Given the description of an element on the screen output the (x, y) to click on. 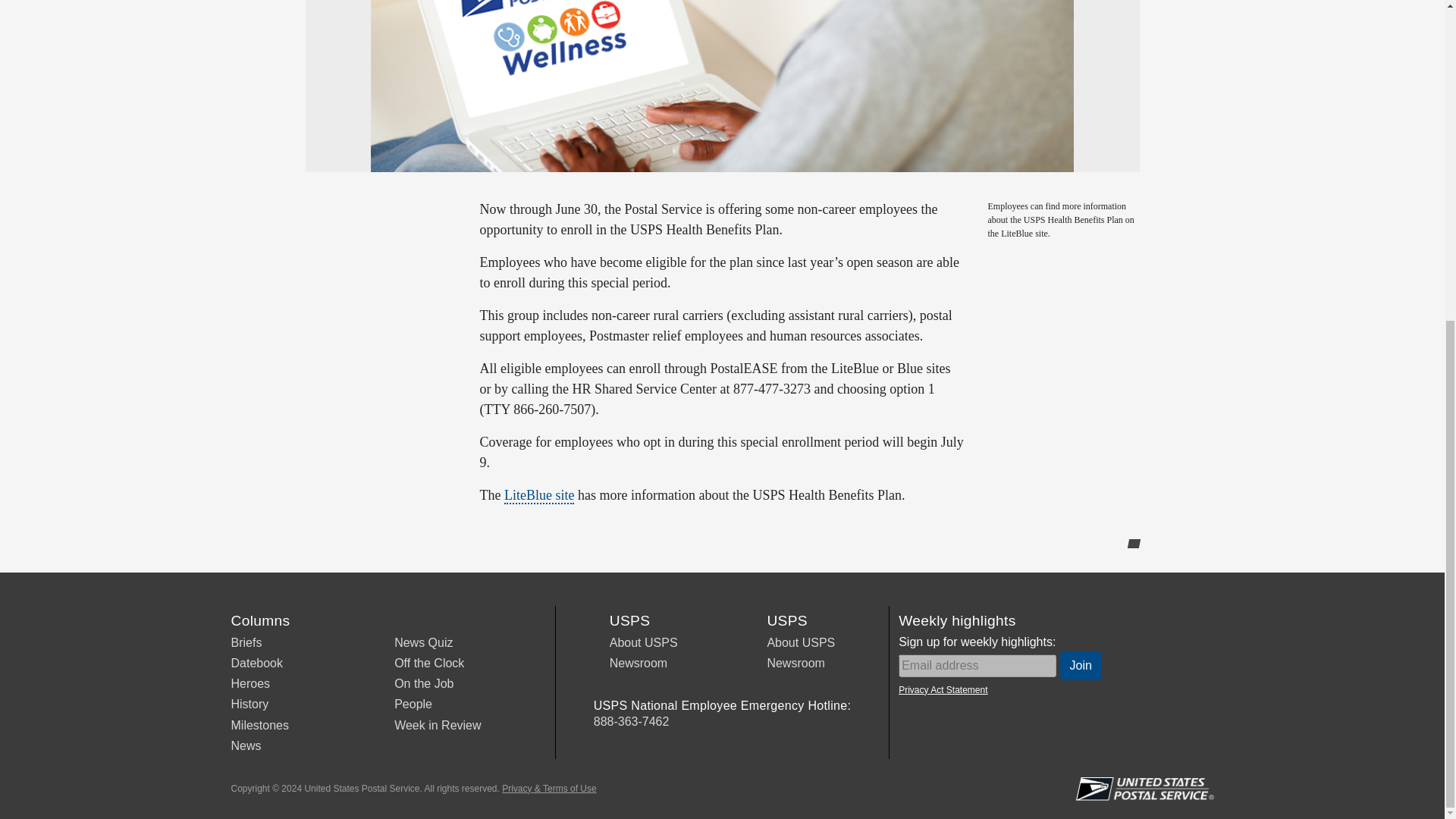
History (248, 703)
People (413, 703)
About USPS (644, 642)
Datebook (256, 662)
About USPS (800, 642)
Week in Review (437, 725)
Off the Clock (429, 662)
Newsroom (795, 662)
Milestones (259, 725)
Heroes (249, 683)
News Quiz (423, 642)
Join (1080, 665)
Newsroom (638, 662)
LiteBlue site (538, 495)
On the Job (423, 683)
